Given the description of an element on the screen output the (x, y) to click on. 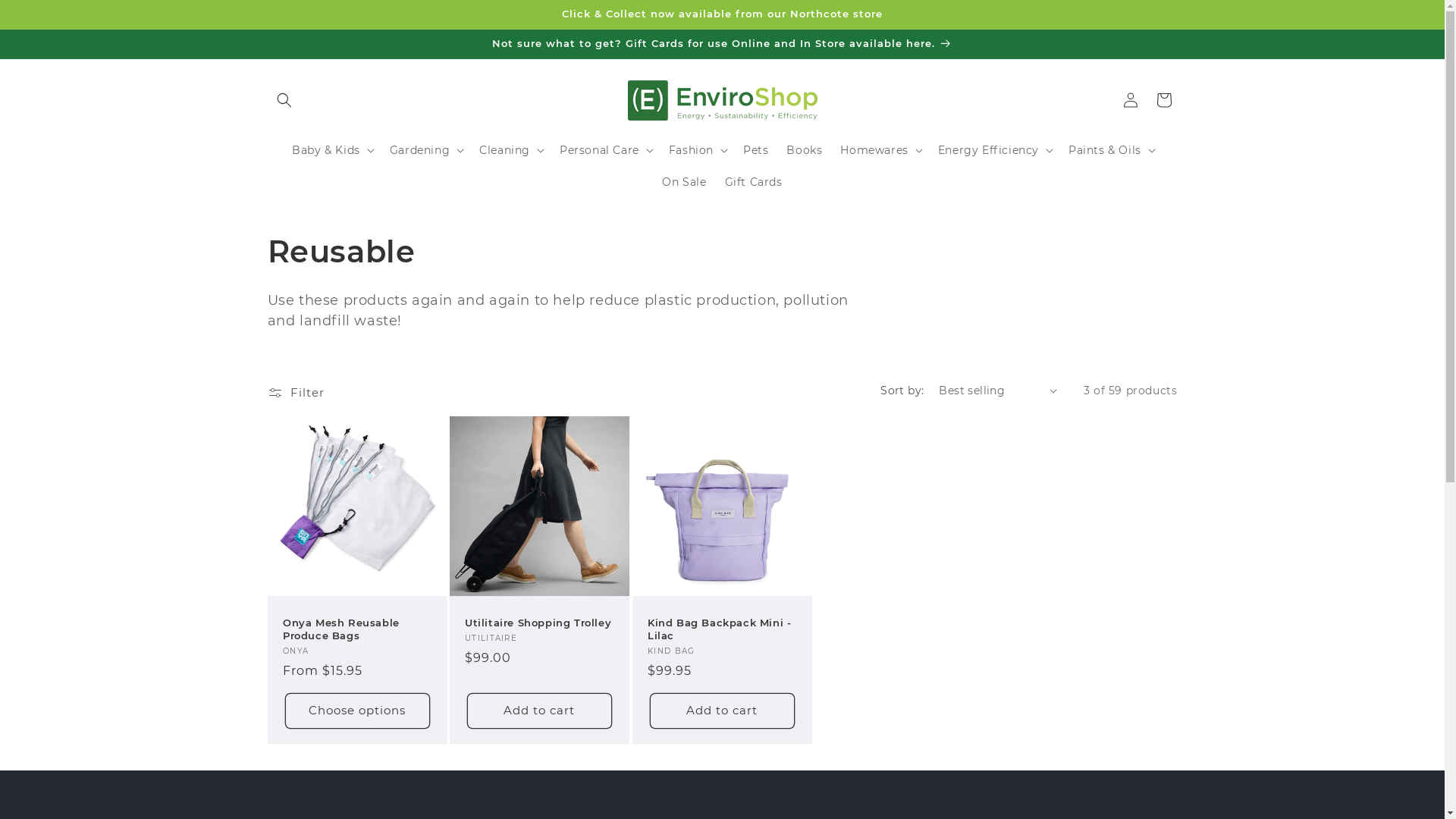
Log in Element type: text (1129, 99)
Gift Cards Element type: text (753, 181)
Onya Mesh Reusable Produce Bags Element type: text (356, 629)
On Sale Element type: text (683, 181)
Add to cart Element type: text (539, 710)
Kind Bag Backpack Mini - Lilac Element type: text (722, 629)
Cart Element type: text (1162, 99)
Books Element type: text (804, 149)
Utilitaire Shopping Trolley Element type: text (539, 622)
Pets Element type: text (755, 149)
Choose options Element type: text (357, 710)
Add to cart Element type: text (721, 710)
